Given the description of an element on the screen output the (x, y) to click on. 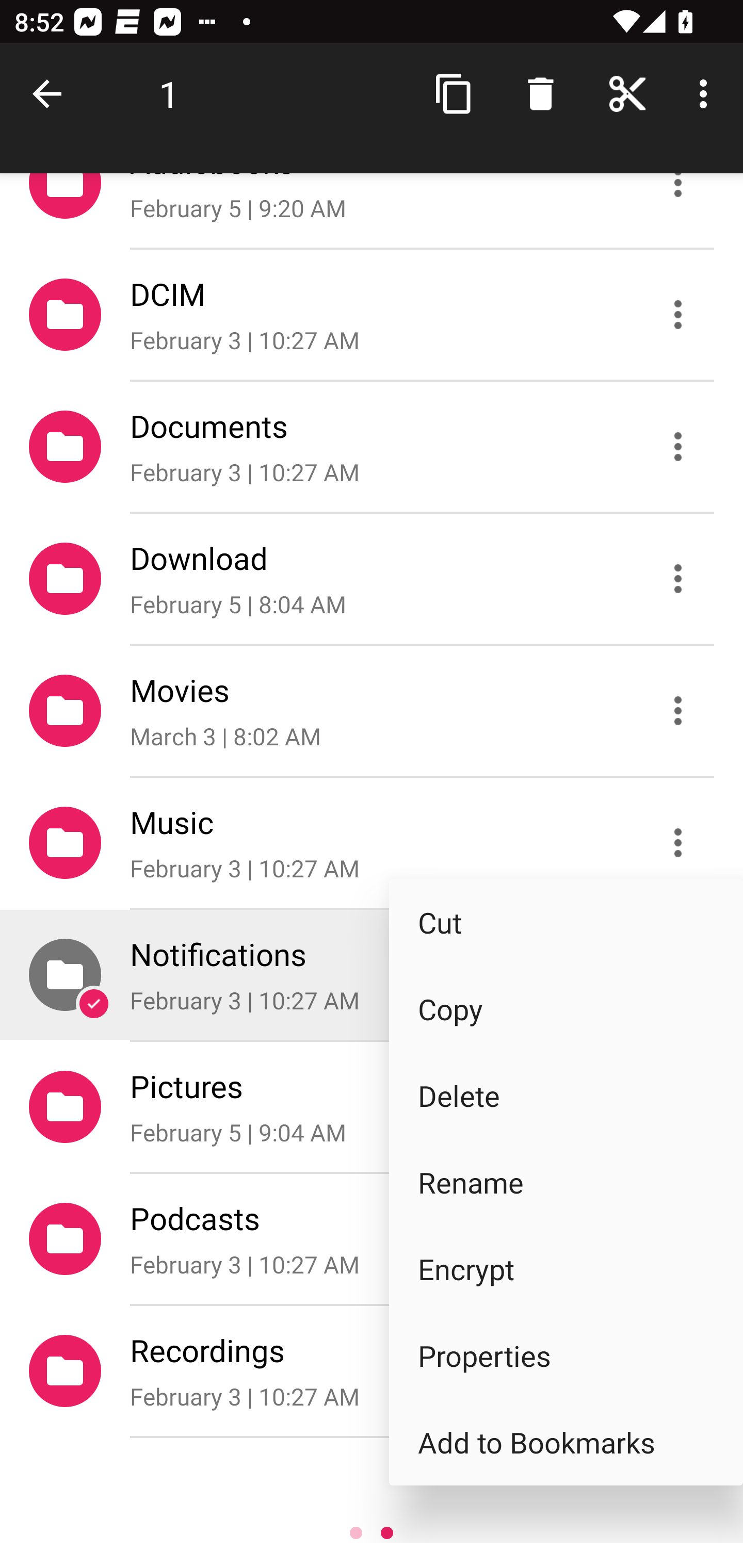
Cut (566, 922)
Copy (566, 1008)
Delete (566, 1095)
Rename (566, 1182)
Encrypt (566, 1269)
Properties (566, 1355)
Add to Bookmarks (566, 1441)
